Given the description of an element on the screen output the (x, y) to click on. 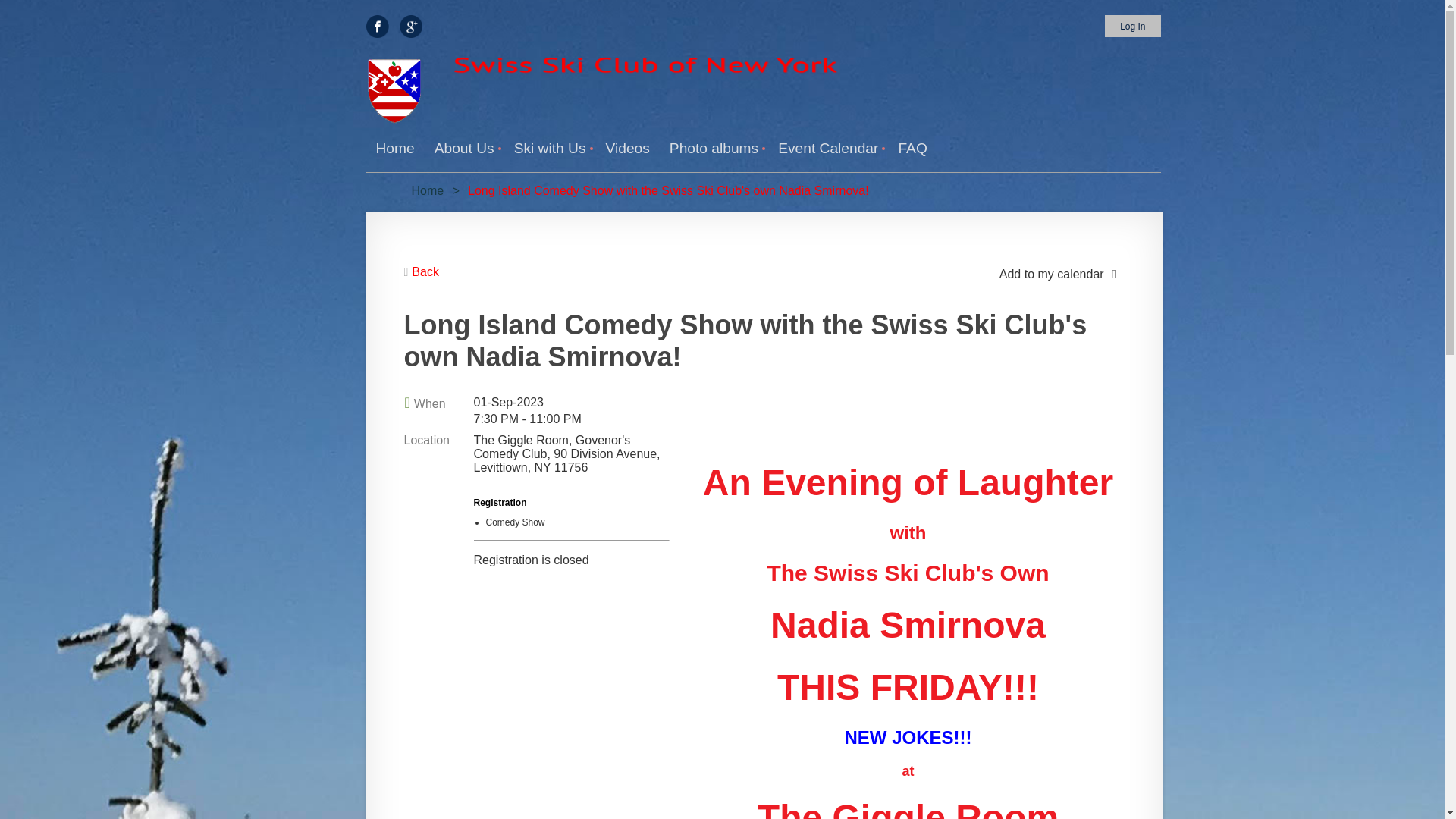
Home (427, 190)
About Us (464, 148)
Videos (627, 148)
Facebook (376, 26)
Swiss Ski Club of New York (645, 64)
Ski with Us (549, 148)
Log In (1132, 25)
Home (394, 148)
About  Us (464, 148)
Event Calendar (828, 148)
Home (394, 148)
Photo albums (713, 148)
Ski with Us (549, 148)
FAQ (912, 148)
